Given the description of an element on the screen output the (x, y) to click on. 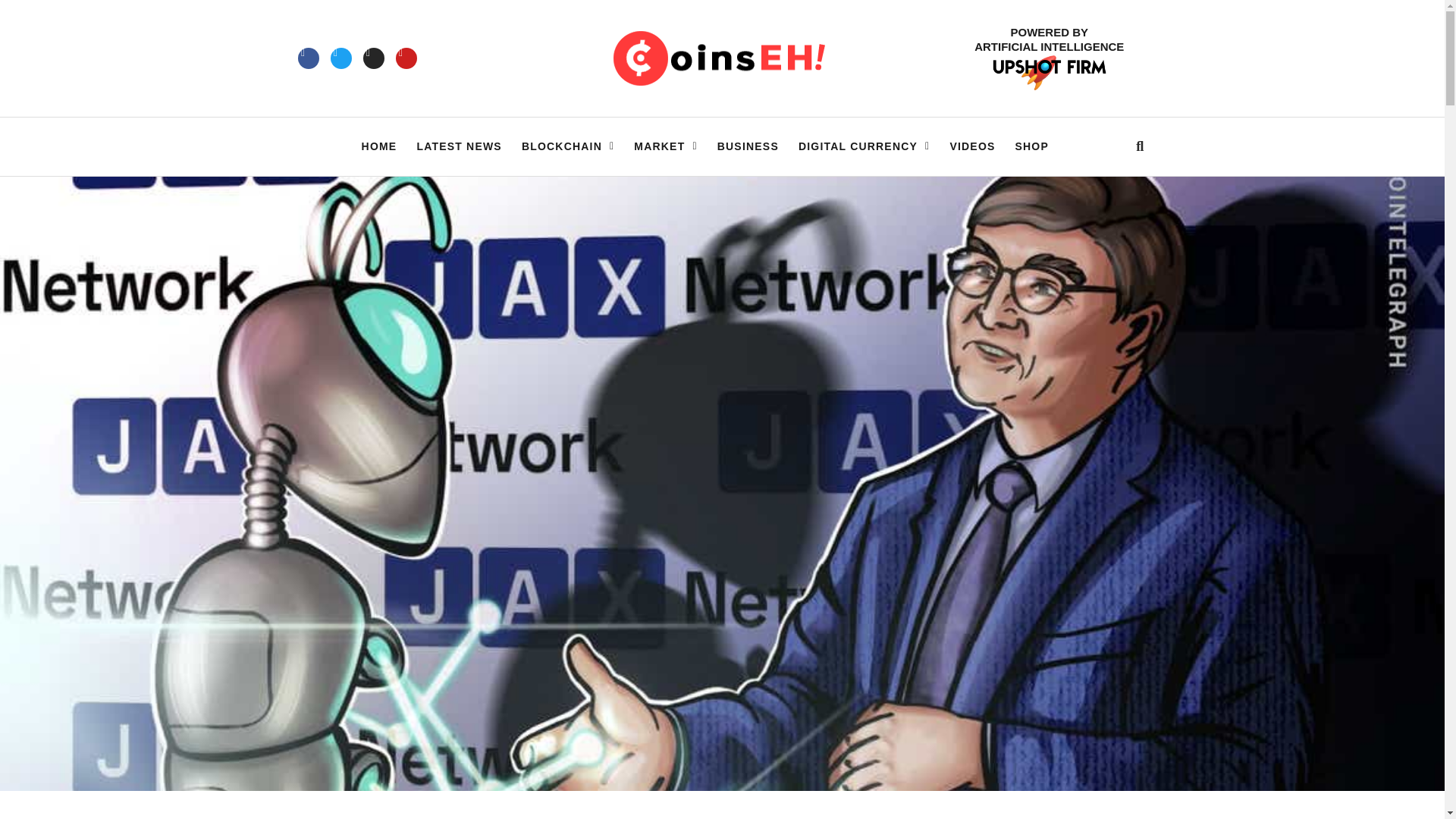
BLOCKCHAIN (567, 146)
LATEST NEWS (459, 146)
MARKET (665, 146)
SHOP (1031, 146)
HOME (379, 146)
BUSINESS (747, 146)
DIGITAL CURRENCY (863, 146)
VIDEOS (971, 146)
